Given the description of an element on the screen output the (x, y) to click on. 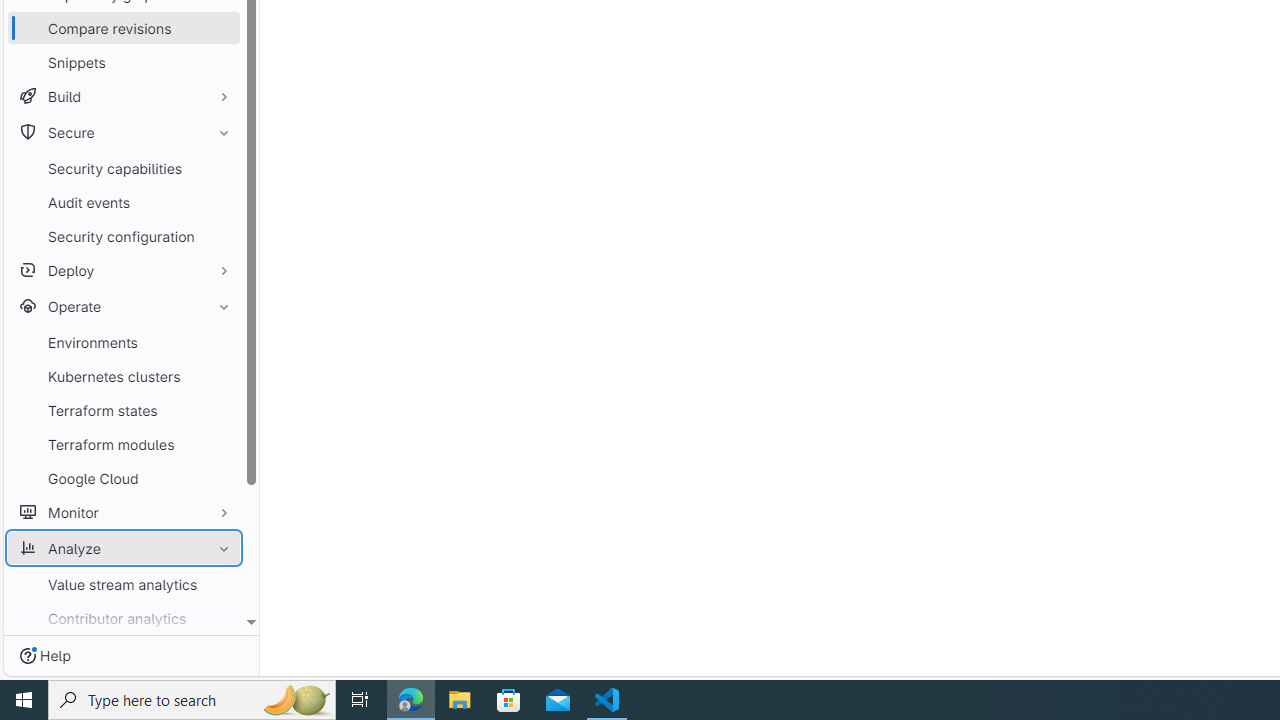
Pin Value stream analytics (219, 583)
Security configuration (123, 236)
Pin Environments (219, 341)
Contributor analytics (123, 618)
Monitor (123, 512)
Pin Google Cloud (219, 478)
Terraform modules (123, 443)
Compare revisions (123, 28)
Pin Security capabilities (219, 168)
